Given the description of an element on the screen output the (x, y) to click on. 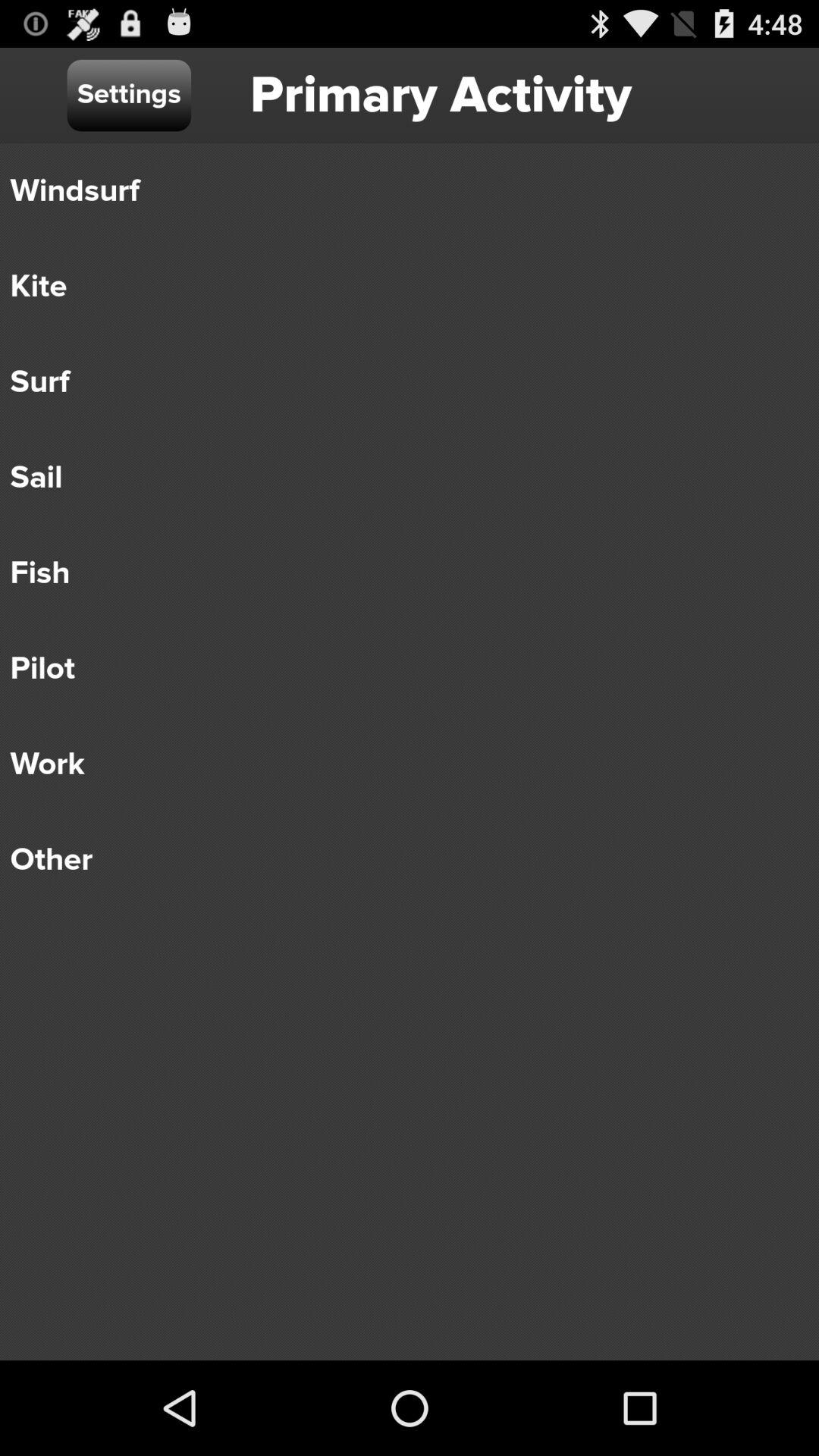
click the icon below the work icon (399, 859)
